Given the description of an element on the screen output the (x, y) to click on. 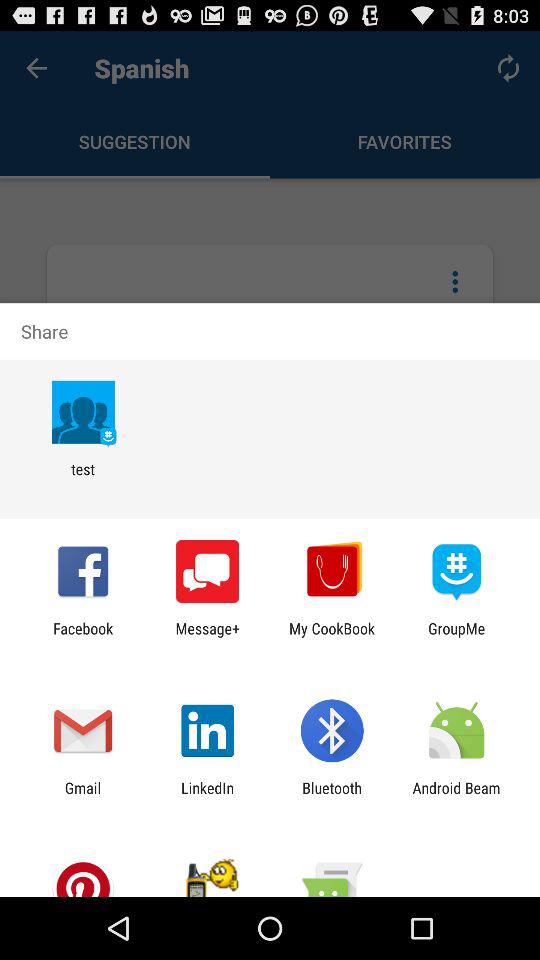
open linkedin app (207, 796)
